Given the description of an element on the screen output the (x, y) to click on. 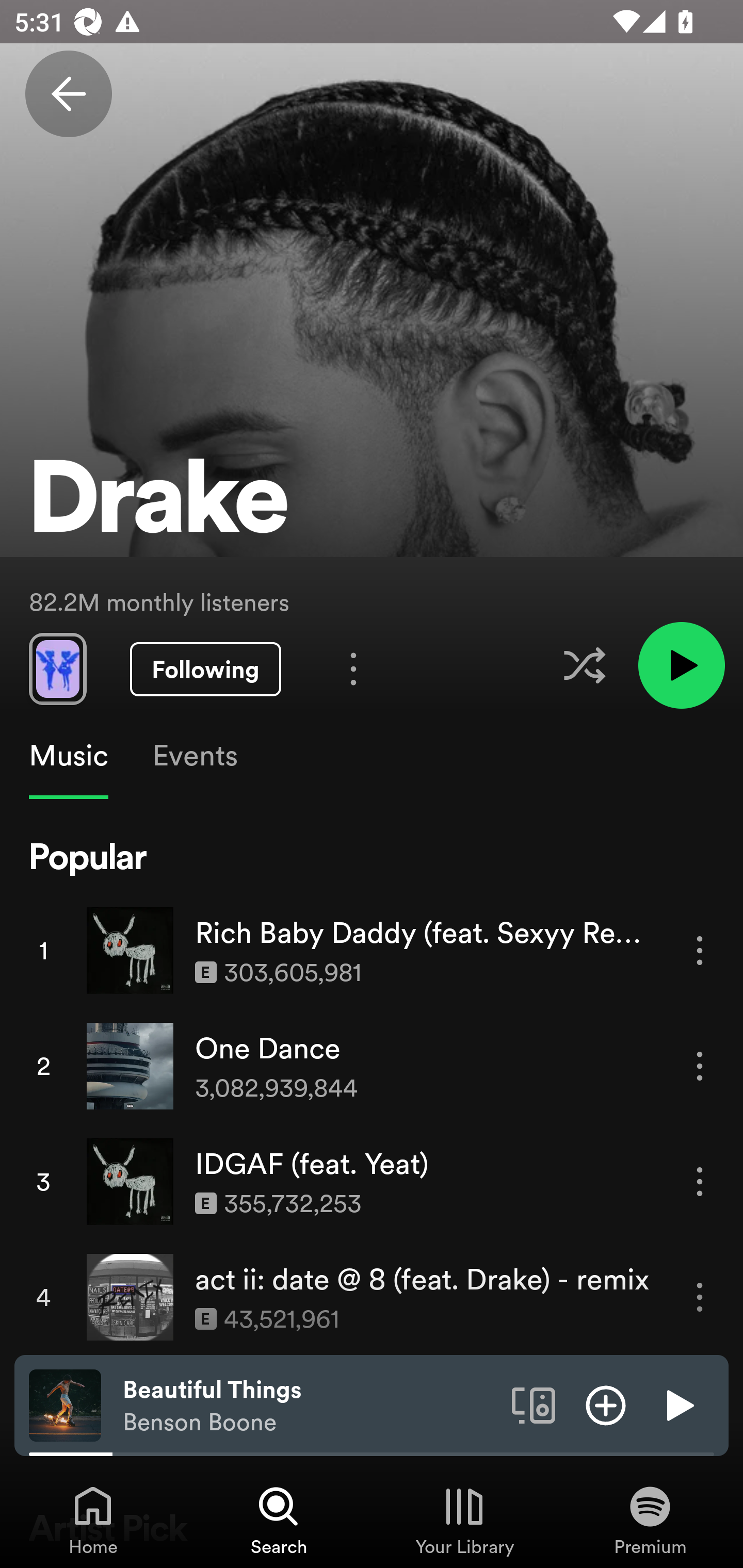
Back (68, 93)
Play artist (681, 664)
Enable shuffle for this artist (583, 665)
Swipe through previews of tracks from this artist. (57, 668)
More options for artist Drake (352, 668)
Following Unfollow (205, 669)
Events (194, 755)
More options for song One Dance (699, 1066)
More options for song IDGAF (feat. Yeat) (699, 1181)
Beautiful Things Benson Boone (309, 1405)
The cover art of the currently playing track (64, 1404)
Connect to a device. Opens the devices menu (533, 1404)
Add item (605, 1404)
Play (677, 1404)
Home, Tab 1 of 4 Home Home (92, 1519)
Search, Tab 2 of 4 Search Search (278, 1519)
Your Library, Tab 3 of 4 Your Library Your Library (464, 1519)
Premium, Tab 4 of 4 Premium Premium (650, 1519)
